Given the description of an element on the screen output the (x, y) to click on. 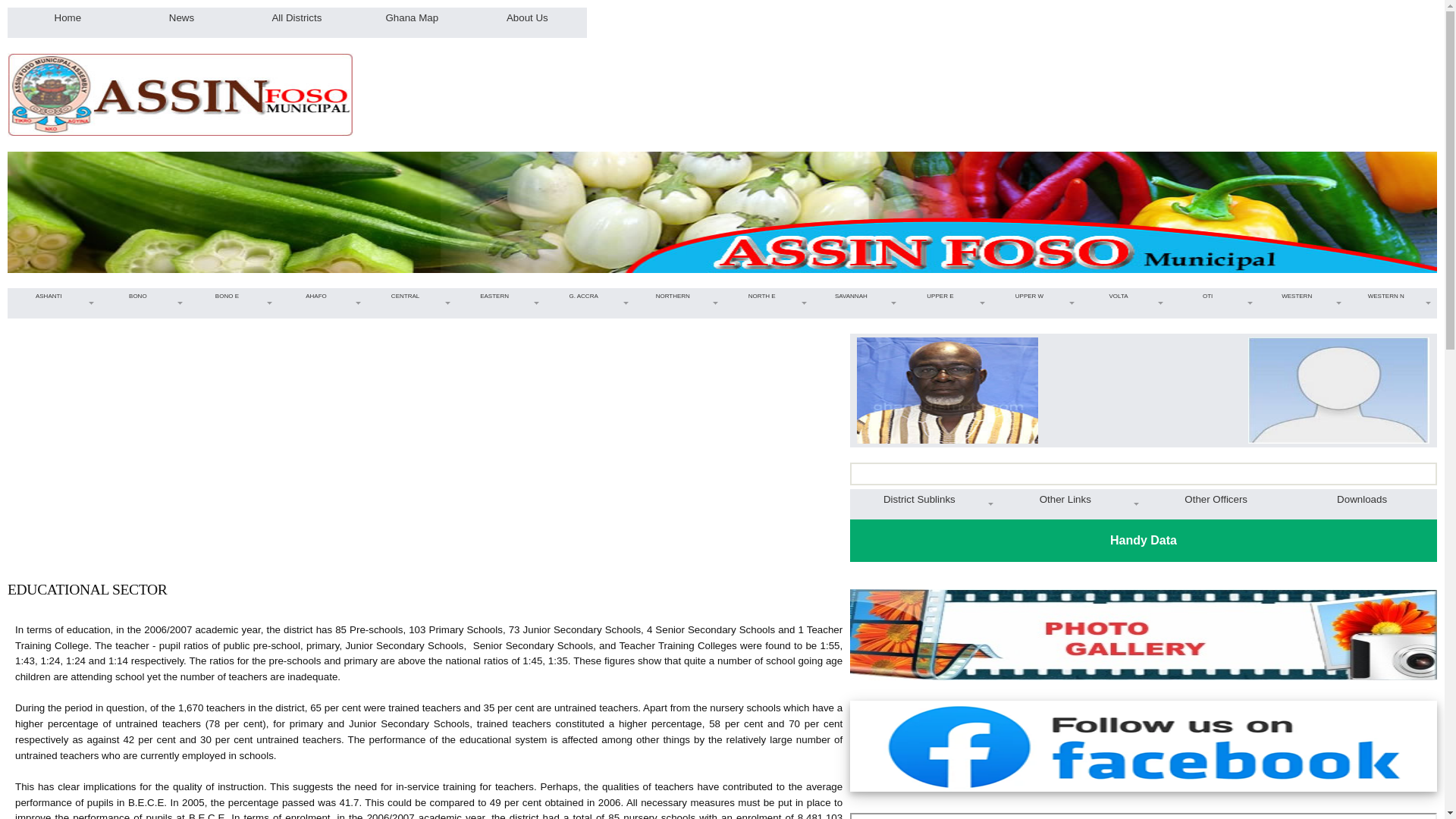
About Us (527, 17)
BONO E (231, 296)
ASHANTI (53, 296)
CENTRAL (409, 296)
VOLTA (1123, 296)
NORTHERN (677, 296)
WESTERN N (1390, 296)
OTI (1212, 296)
UPPER W (1034, 296)
SAVANNAH (855, 296)
